Given the description of an element on the screen output the (x, y) to click on. 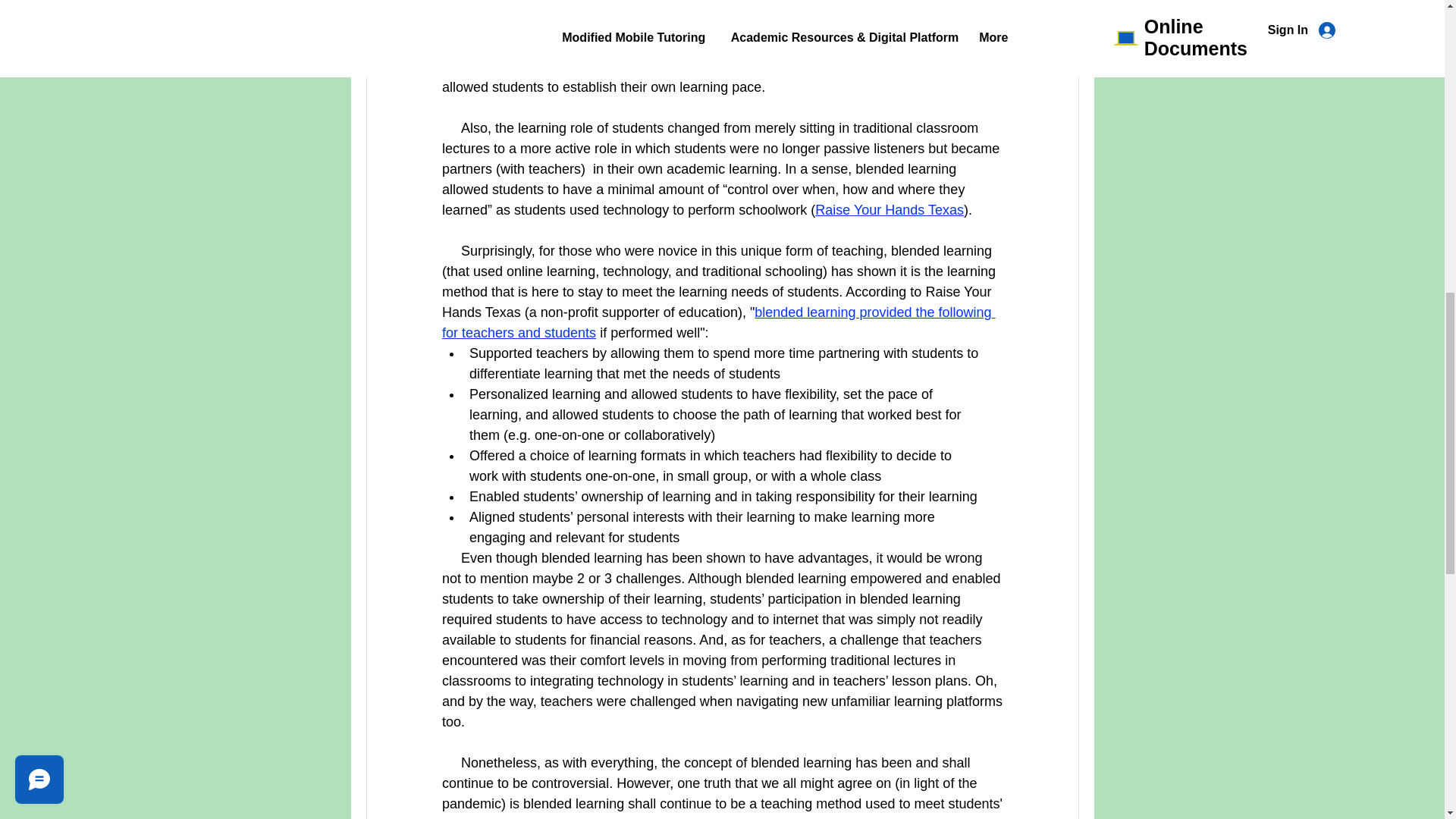
Raise Your Hands Texas (889, 209)
